Given the description of an element on the screen output the (x, y) to click on. 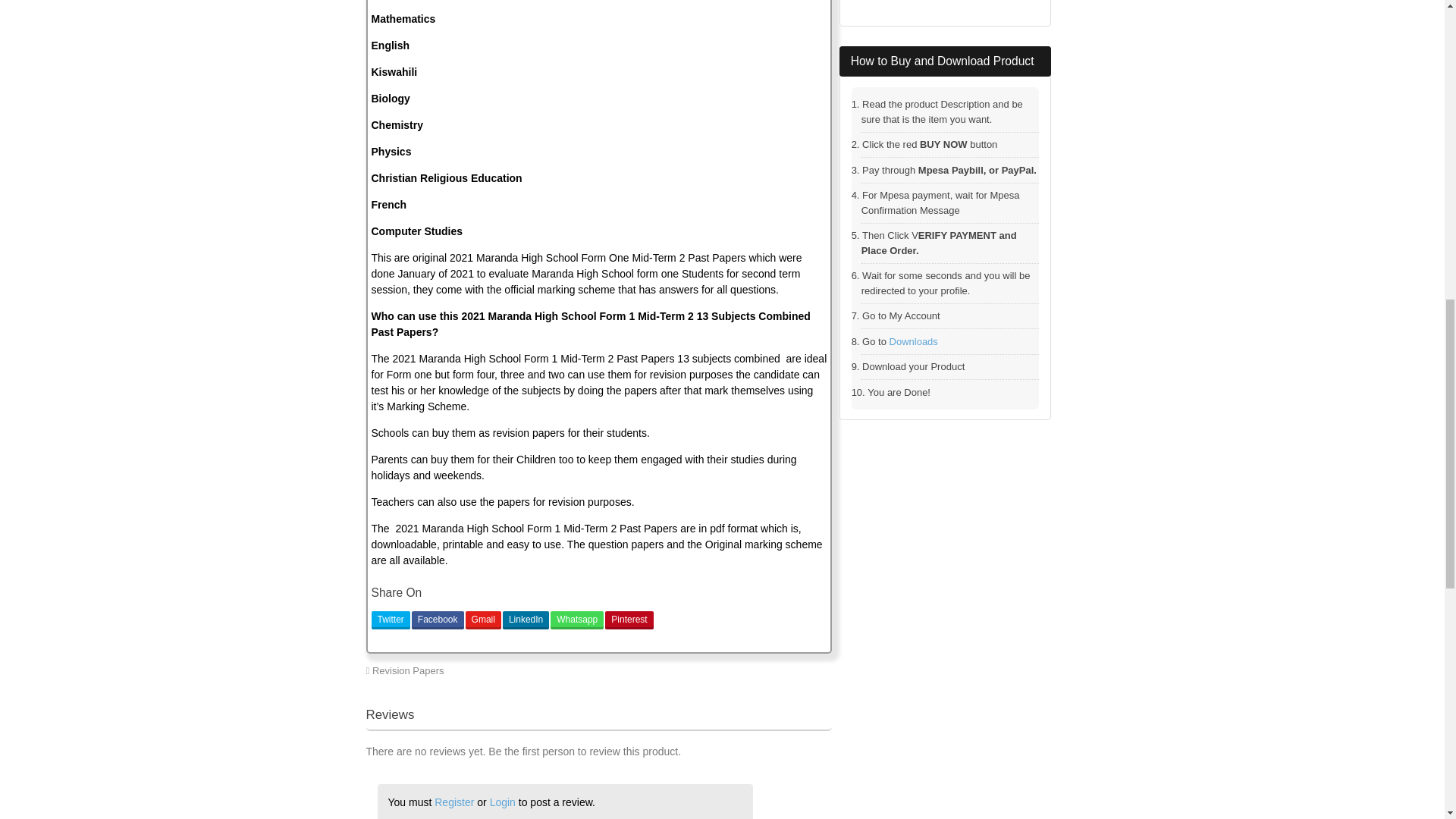
Whatsapp (577, 619)
Facebook (438, 619)
Pinterest (628, 619)
Revision Papers (408, 670)
LinkedIn (525, 619)
Gmail (482, 619)
Twitter (390, 619)
Maranda Mid-Term 2 Past Papers 2021 (739, 670)
